Given the description of an element on the screen output the (x, y) to click on. 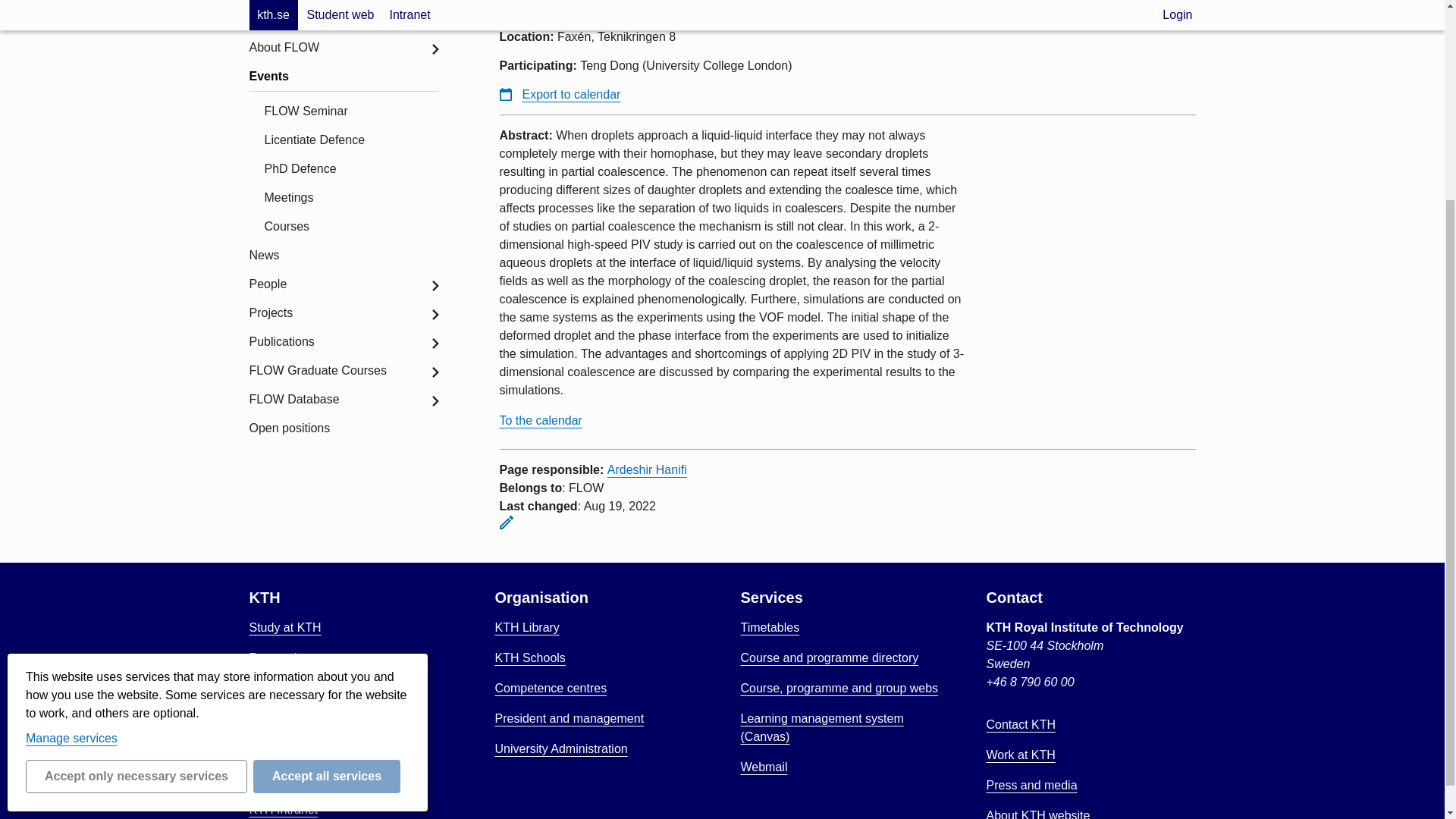
Accept only necessary services (136, 512)
Edit this page (505, 522)
Accept all services (326, 512)
Manage services (71, 473)
